Given the description of an element on the screen output the (x, y) to click on. 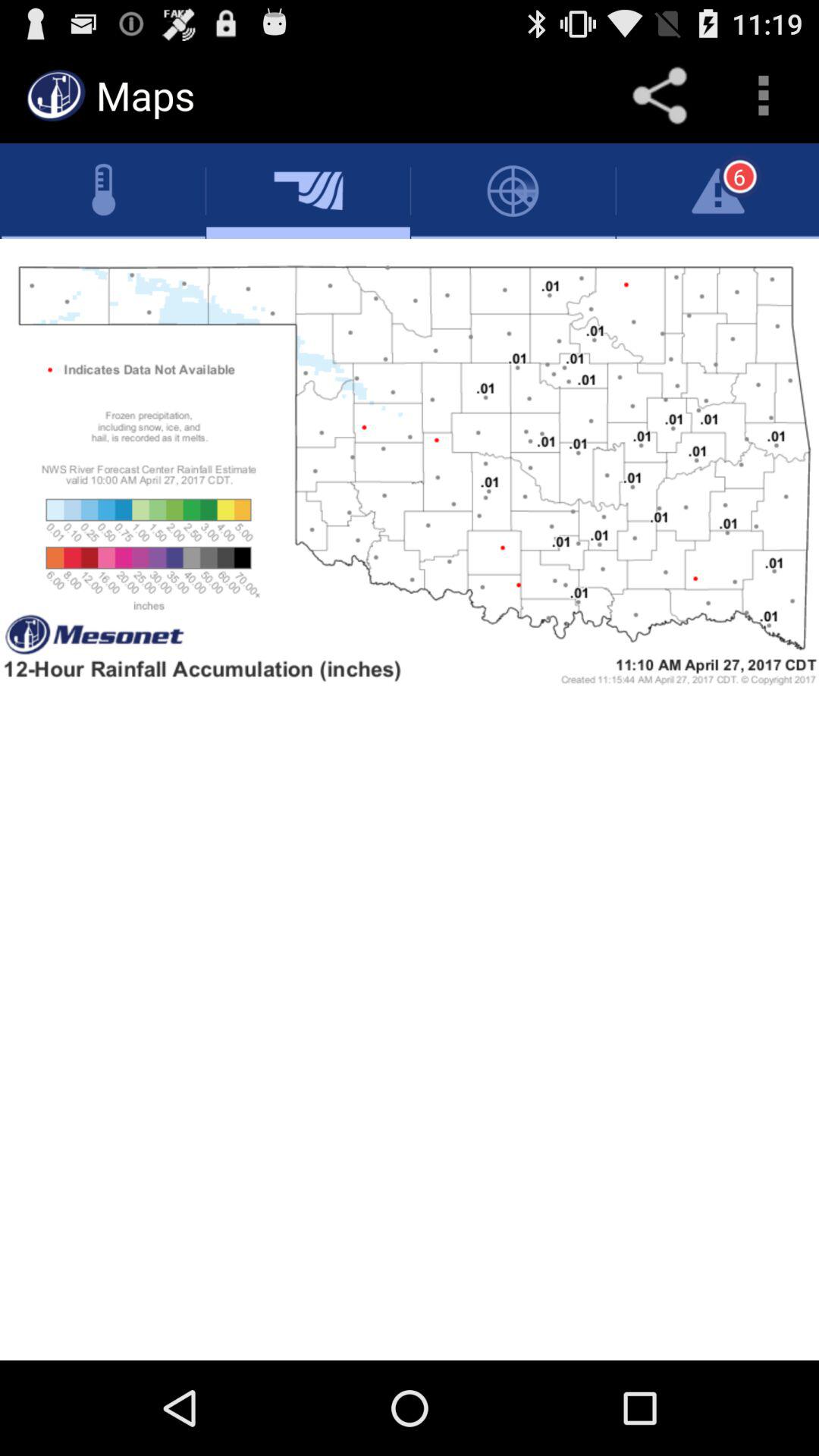
go to share (659, 95)
